Given the description of an element on the screen output the (x, y) to click on. 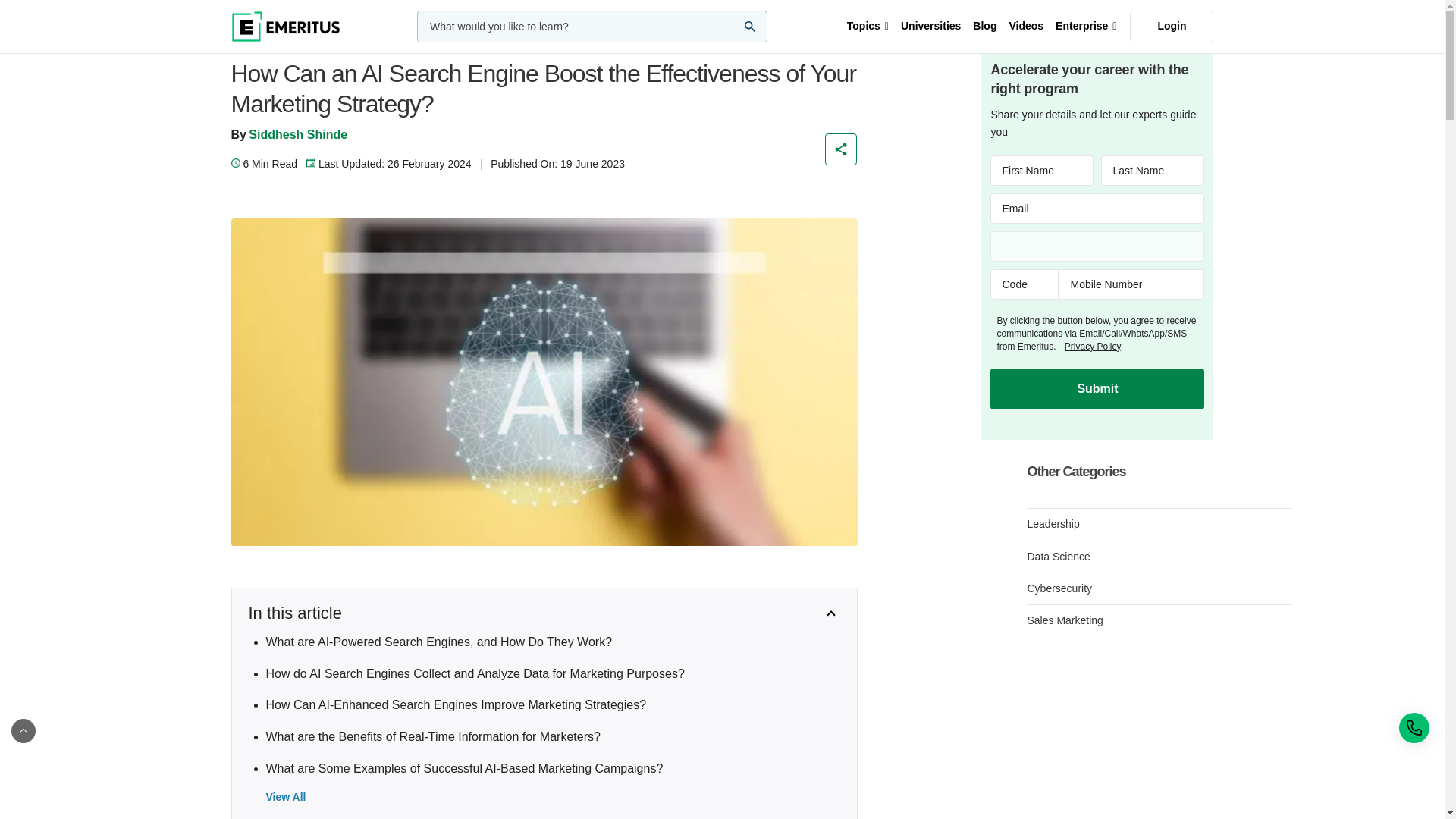
Country (1097, 245)
Emeritus Online Courses (284, 26)
Topics (868, 26)
Submit (1097, 388)
Universities (930, 26)
Enterprise (1085, 26)
Login (1170, 26)
